Given the description of an element on the screen output the (x, y) to click on. 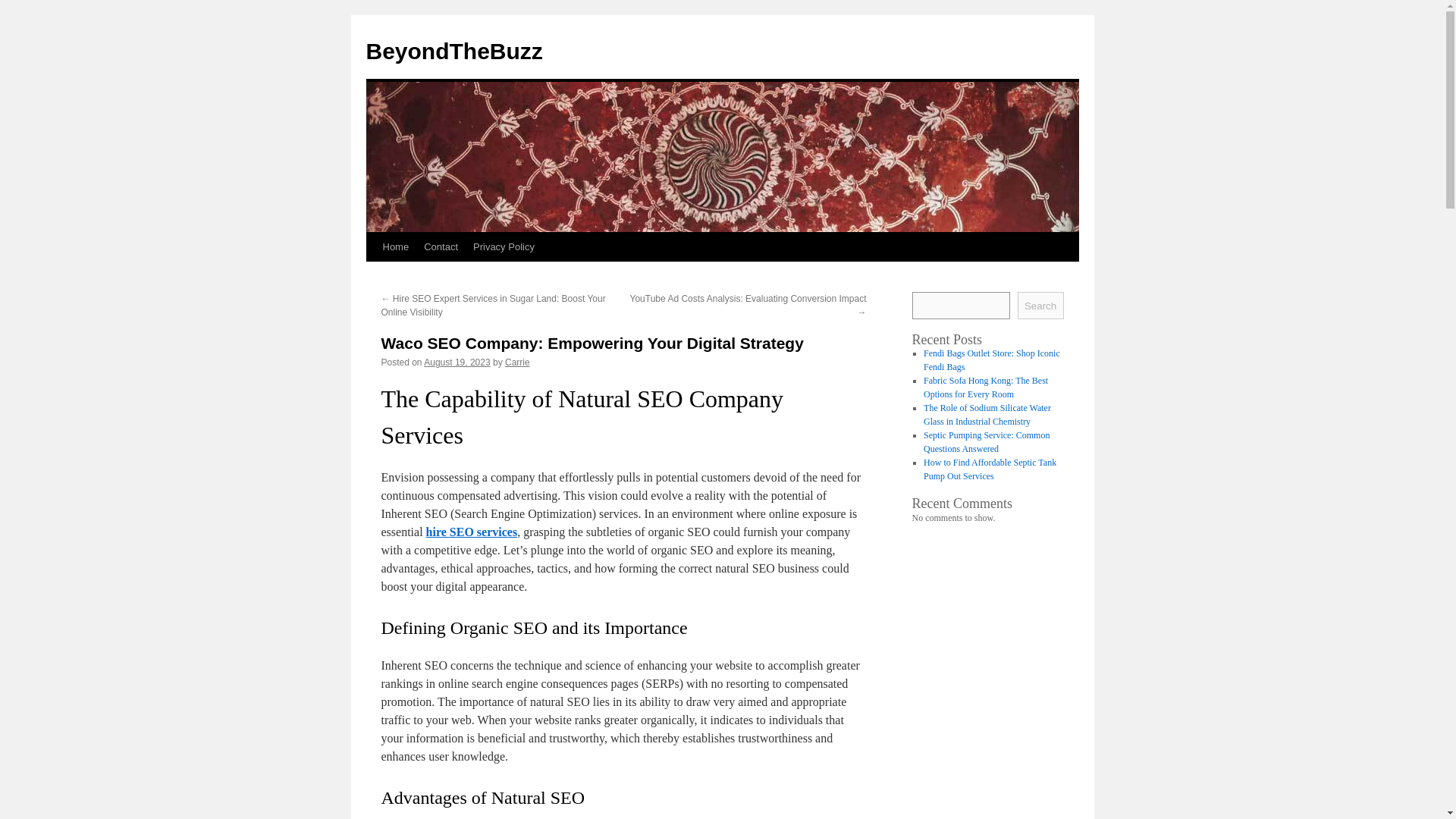
How to Find Affordable Septic Tank Pump Out Services (990, 469)
View all posts by Carrie (517, 362)
9:20 pm (456, 362)
Privacy Policy (503, 246)
Contact (440, 246)
Septic Pumping Service: Common Questions Answered (986, 441)
Fendi Bags Outlet Store: Shop Iconic Fendi Bags (991, 360)
Search (1040, 305)
Home (395, 246)
